Given the description of an element on the screen output the (x, y) to click on. 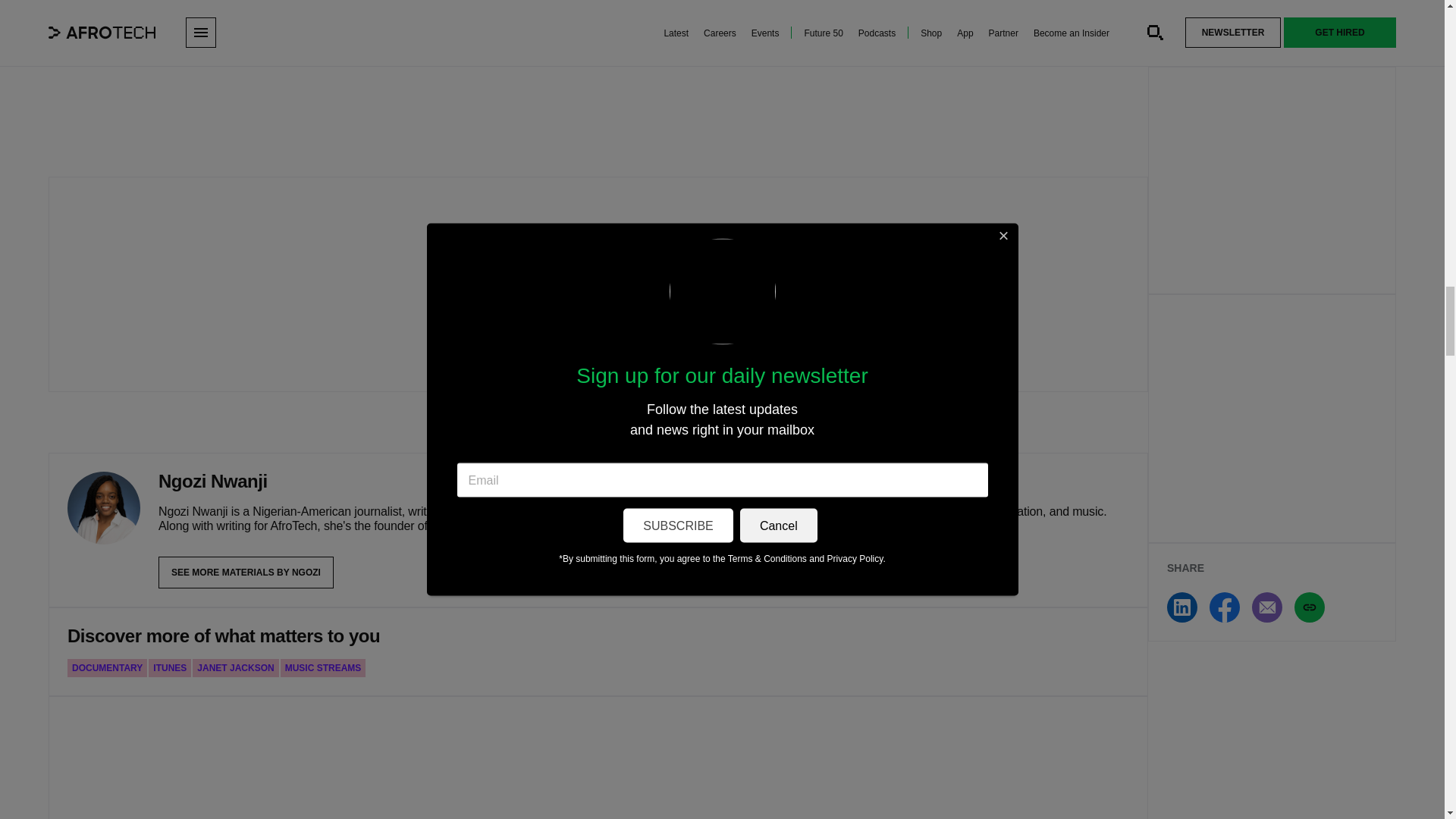
Ngozi Nwanji (102, 507)
